Given the description of an element on the screen output the (x, y) to click on. 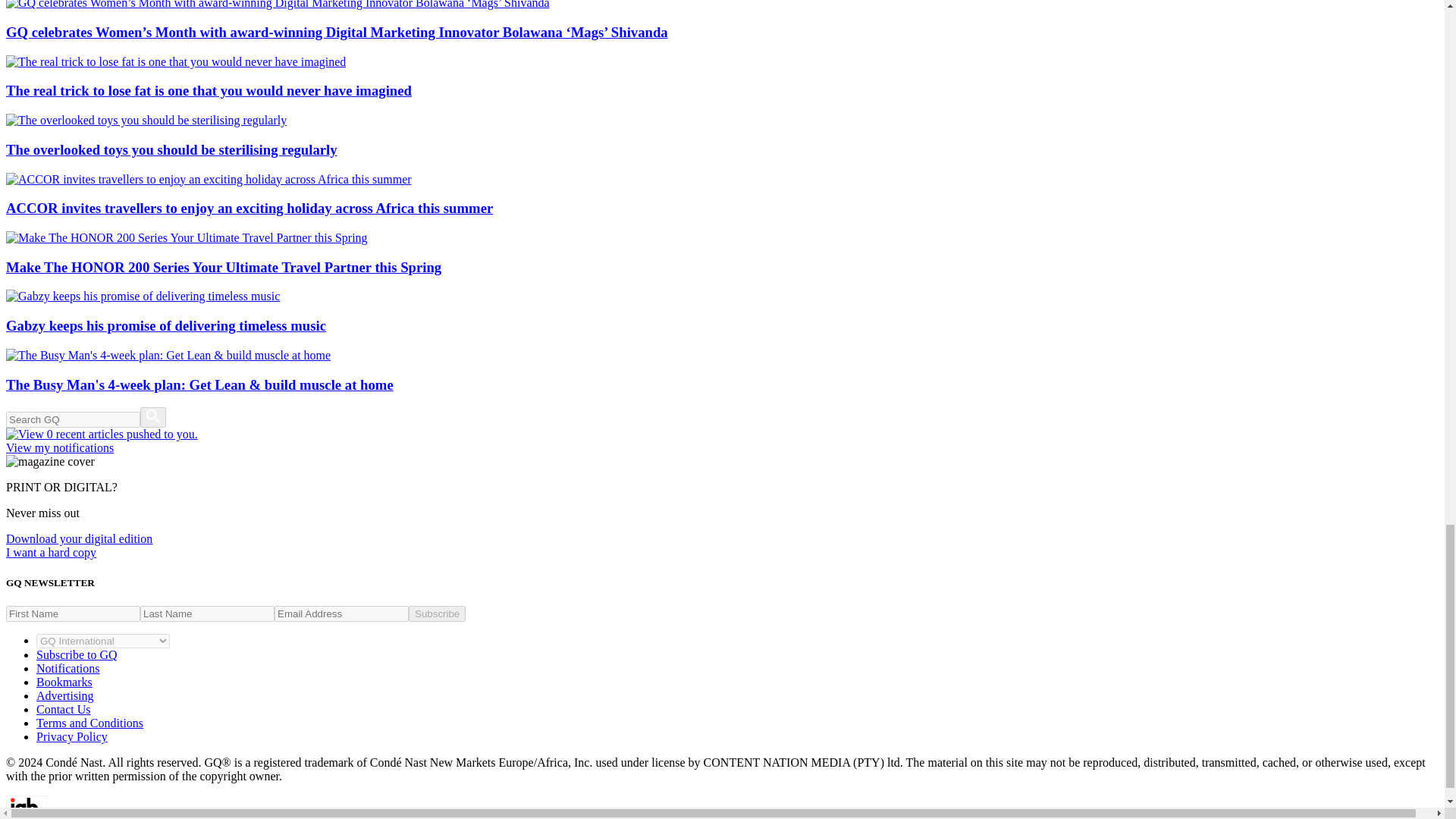
Bookmarks (64, 681)
Terms and Conditions (89, 722)
View my notifications (721, 441)
Contact Us (63, 708)
Download your digital edition (78, 538)
Gabzy keeps his promise of delivering timeless music (721, 311)
Subscribe to GQ (76, 654)
Subscribe (437, 613)
Advertising (65, 695)
